Given the description of an element on the screen output the (x, y) to click on. 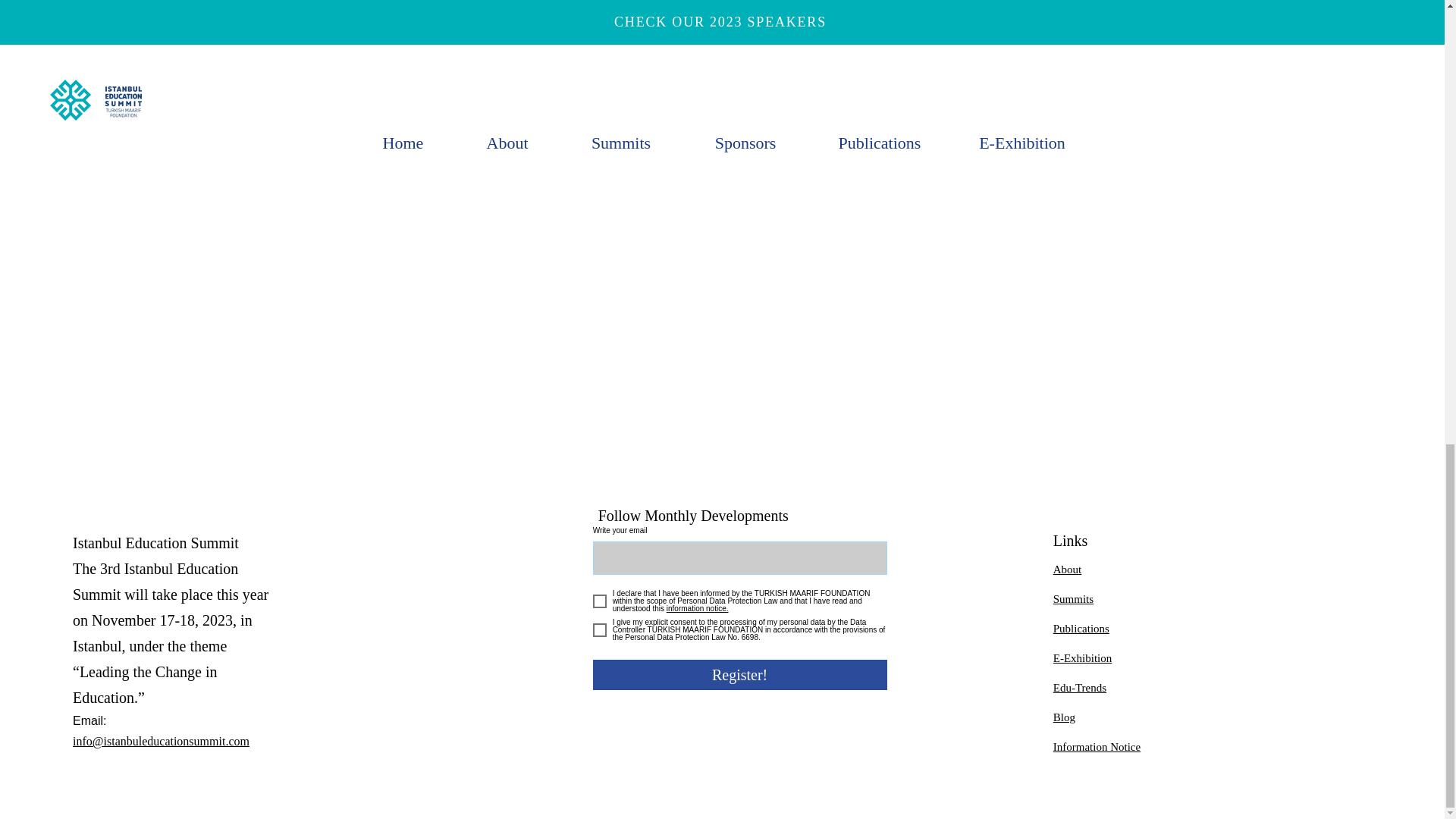
Edu-Trends (1079, 687)
Blog (1063, 717)
E-Exhibition (1082, 657)
Publications (1080, 628)
Register! (739, 675)
Summits (1072, 598)
About (1066, 569)
Information Notice (1096, 746)
information notice. (696, 608)
